Given the description of an element on the screen output the (x, y) to click on. 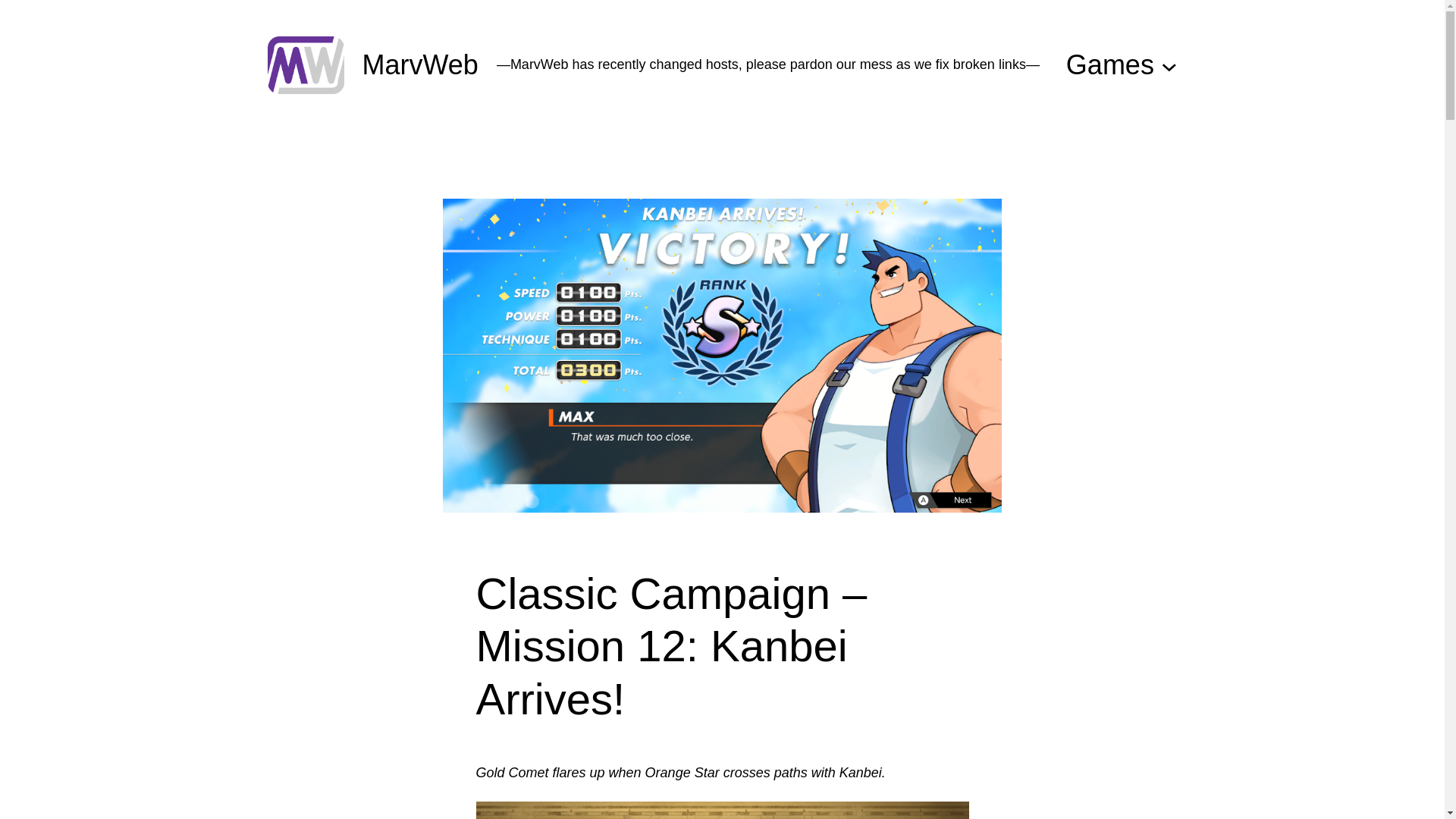
Games (1109, 64)
MarvWeb (420, 64)
Advertisement (721, 164)
